Given the description of an element on the screen output the (x, y) to click on. 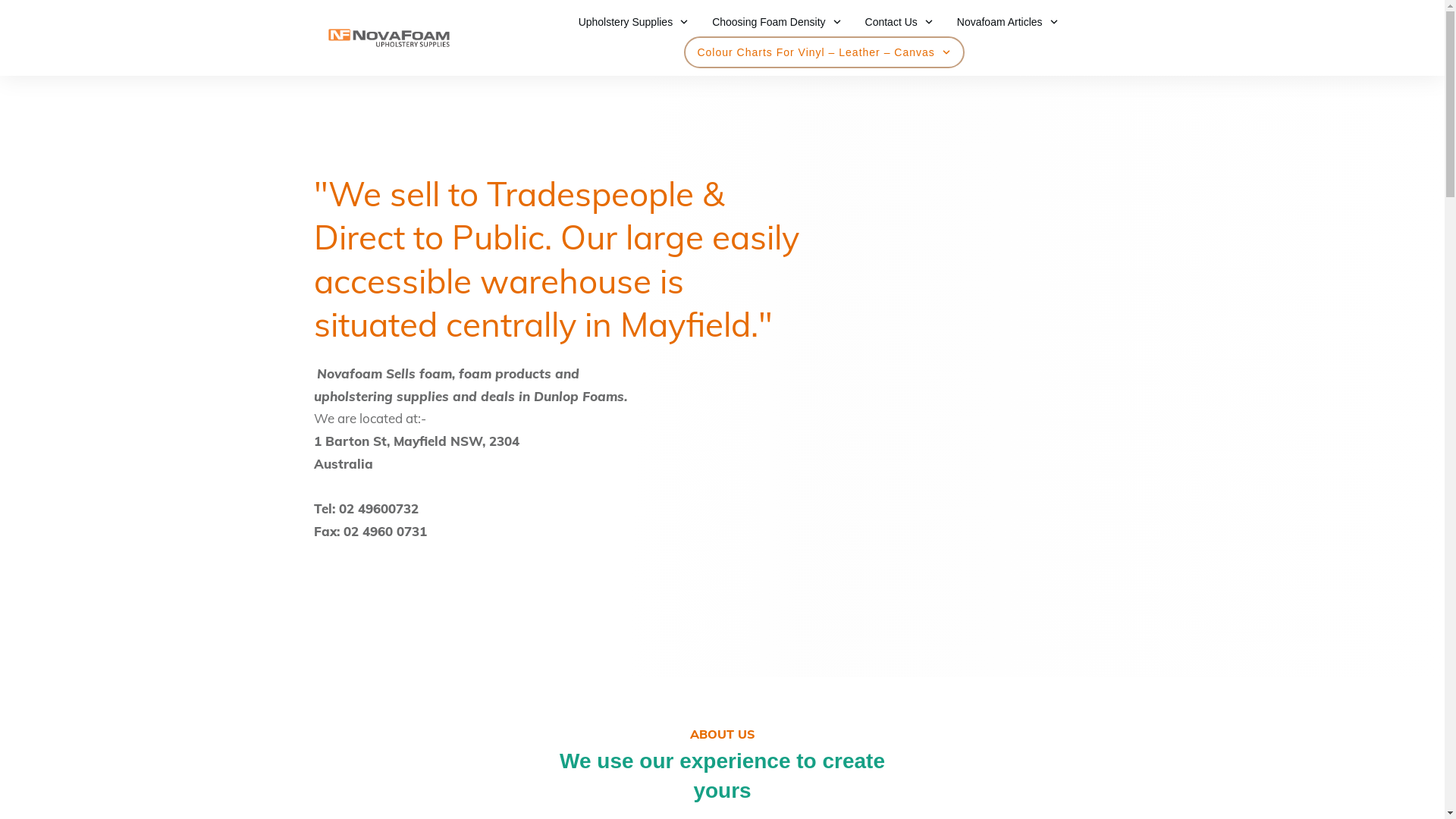
Contact Us Element type: text (899, 21)
Choosing Foam Density Element type: text (776, 21)
Novafoam Articles Element type: text (1008, 21)
Upholstery Supplies Element type: text (634, 21)
